Given the description of an element on the screen output the (x, y) to click on. 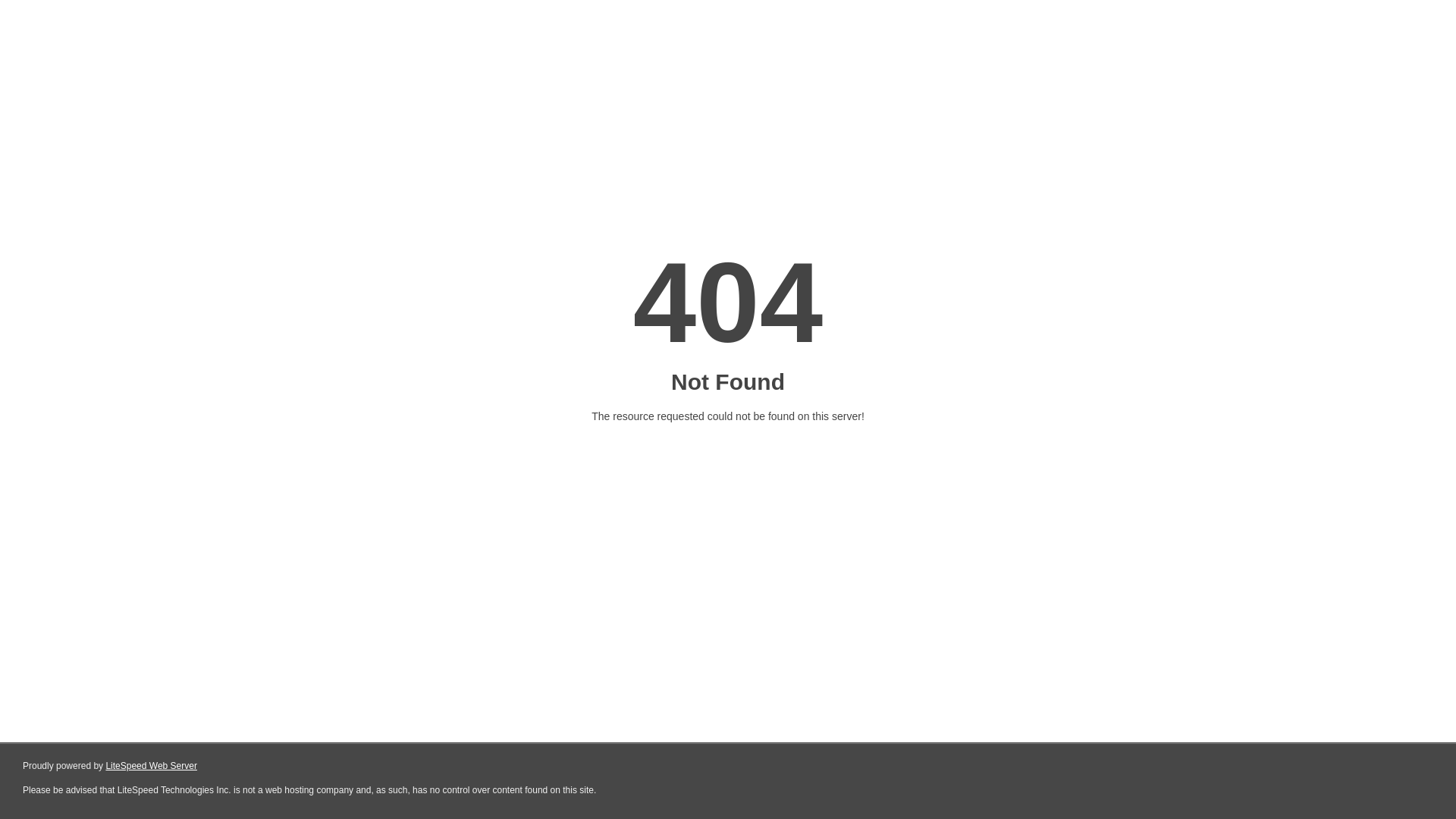
LiteSpeed Web Server Element type: text (151, 765)
